Given the description of an element on the screen output the (x, y) to click on. 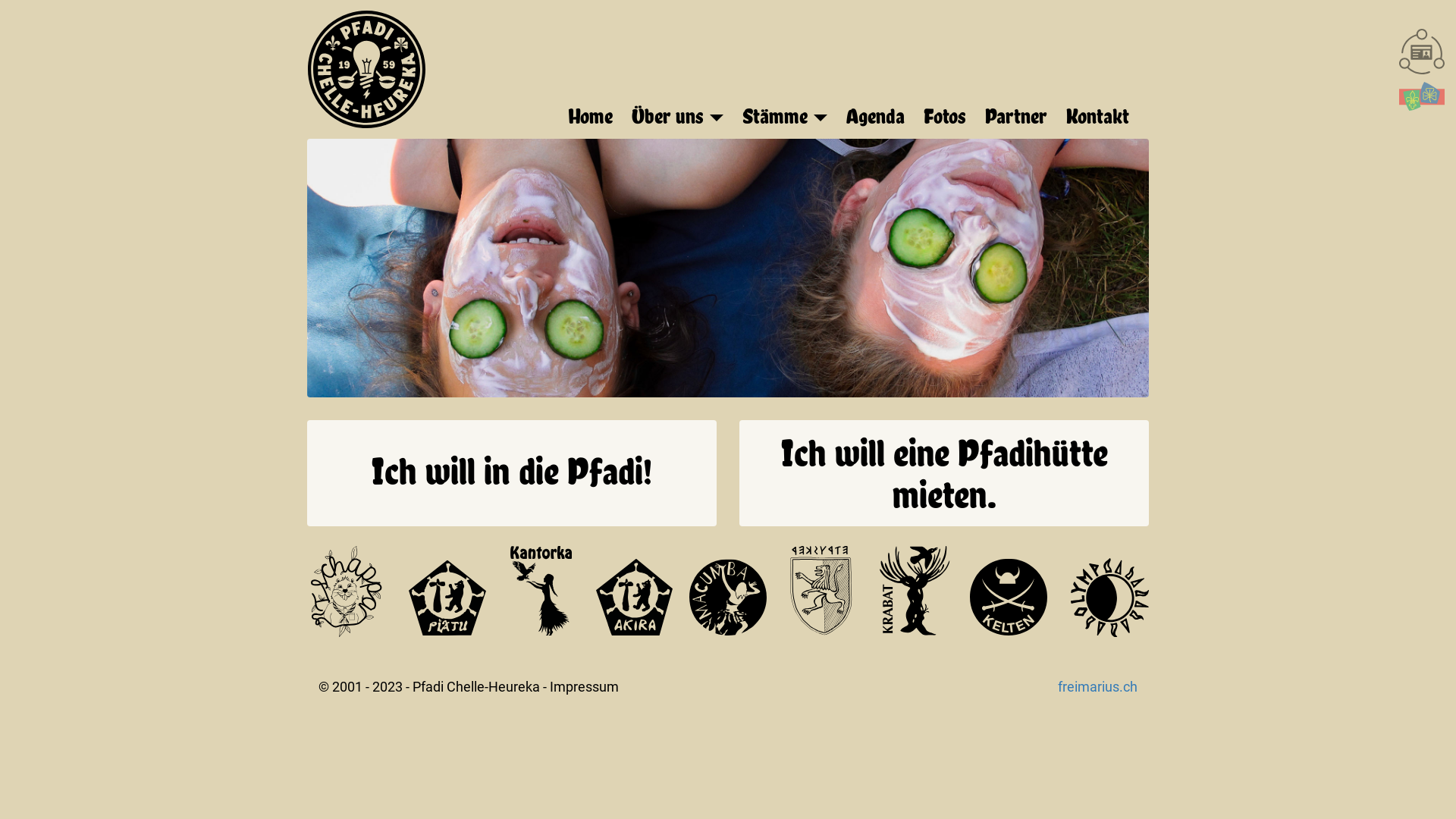
Kontakt Element type: text (1101, 119)
Agenda Element type: text (879, 119)
freimarius.ch Element type: text (1097, 686)
MiData Element type: hover (1421, 95)
Pfadi Chelle-Heureka Element type: text (475, 686)
Ich will in die Pfadi! Element type: text (511, 473)
Partner Element type: text (1019, 119)
Fotos Element type: text (948, 119)
Home Element type: text (593, 119)
Webetat Element type: hover (1421, 51)
Impressum Element type: text (583, 686)
